Given the description of an element on the screen output the (x, y) to click on. 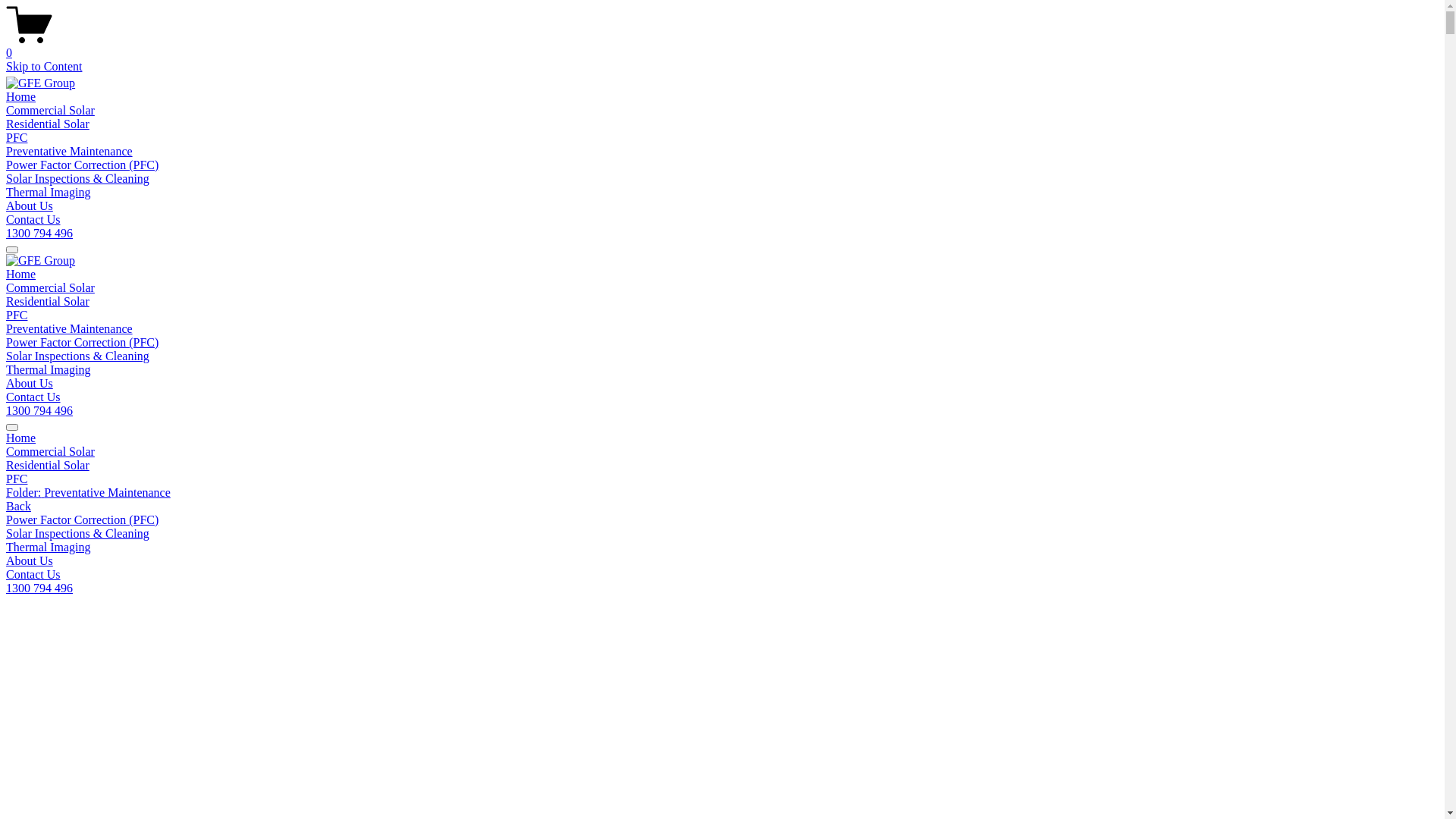
Commercial Solar Element type: text (722, 451)
Home Element type: text (20, 96)
1300 794 496 Element type: text (39, 410)
About Us Element type: text (722, 560)
Thermal Imaging Element type: text (48, 191)
Commercial Solar Element type: text (50, 109)
Commercial Solar Element type: text (50, 287)
Folder: Preventative Maintenance Element type: text (722, 492)
Solar Inspections & Cleaning Element type: text (722, 533)
Solar Inspections & Cleaning Element type: text (77, 355)
Power Factor Correction (PFC) Element type: text (82, 164)
PFC Element type: text (722, 479)
Contact Us Element type: text (33, 219)
Residential Solar Element type: text (47, 123)
PFC Element type: text (16, 137)
Power Factor Correction (PFC) Element type: text (82, 341)
Back Element type: text (18, 505)
1300 794 496 Element type: text (39, 232)
0 Element type: text (722, 45)
Solar Inspections & Cleaning Element type: text (77, 178)
Home Element type: text (20, 273)
Thermal Imaging Element type: text (722, 547)
Contact Us Element type: text (722, 574)
Residential Solar Element type: text (722, 465)
Residential Solar Element type: text (47, 300)
Skip to Content Element type: text (43, 65)
About Us Element type: text (29, 382)
Preventative Maintenance Element type: text (69, 150)
About Us Element type: text (29, 205)
Preventative Maintenance Element type: text (69, 328)
Contact Us Element type: text (33, 396)
1300 794 496 Element type: text (39, 587)
Home Element type: text (722, 438)
Thermal Imaging Element type: text (48, 369)
PFC Element type: text (16, 314)
Power Factor Correction (PFC) Element type: text (722, 520)
